Given the description of an element on the screen output the (x, y) to click on. 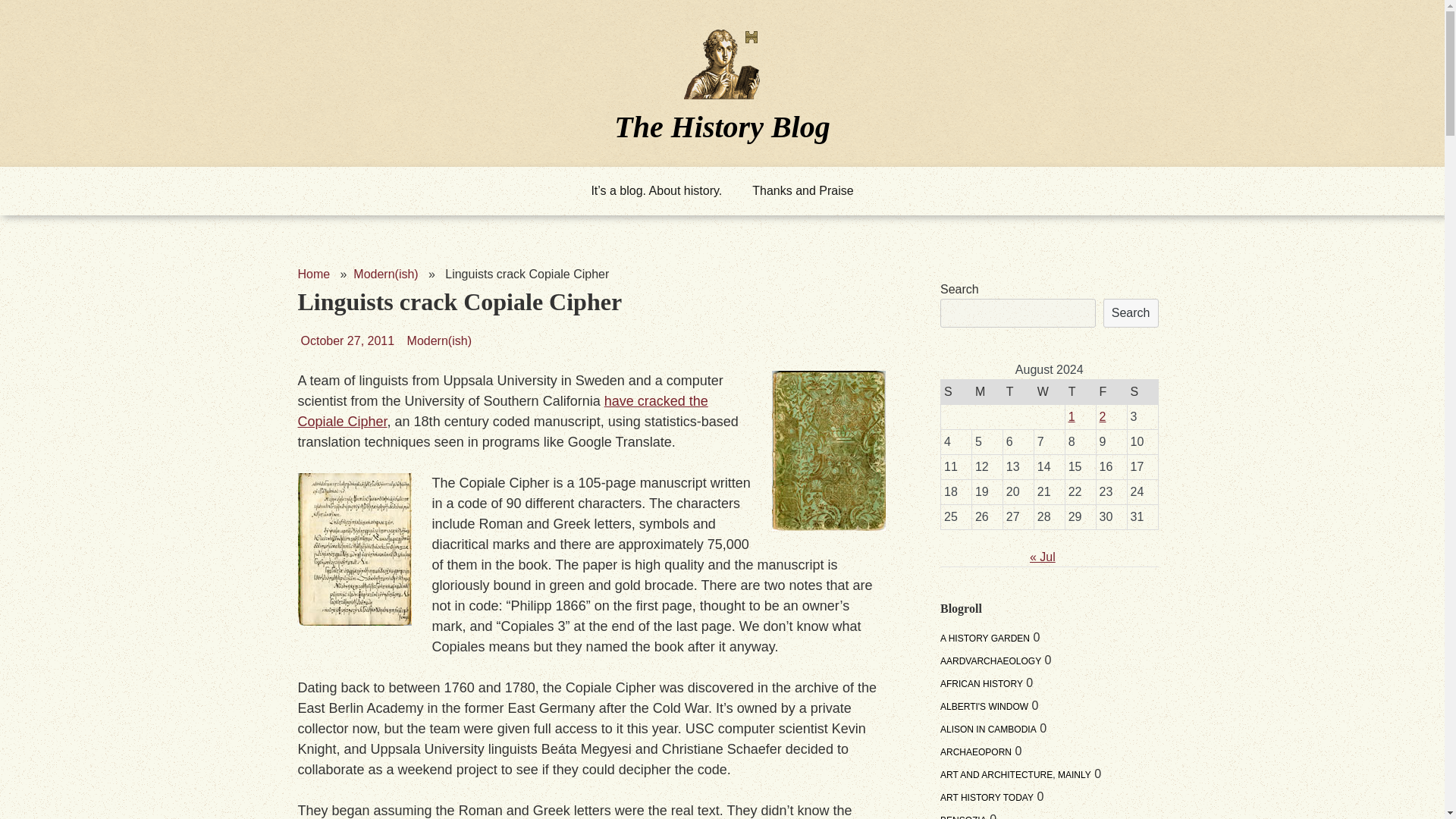
Monday (987, 391)
Sunday (955, 391)
Home (313, 273)
The History Blog (721, 125)
have cracked the Copiale Cipher (502, 411)
Saturday (1141, 391)
Friday (1111, 391)
Thursday (1080, 391)
Tuesday (1018, 391)
Wednesday (1048, 391)
Thanks and Praise (801, 191)
October 27, 2011 (346, 340)
